Given the description of an element on the screen output the (x, y) to click on. 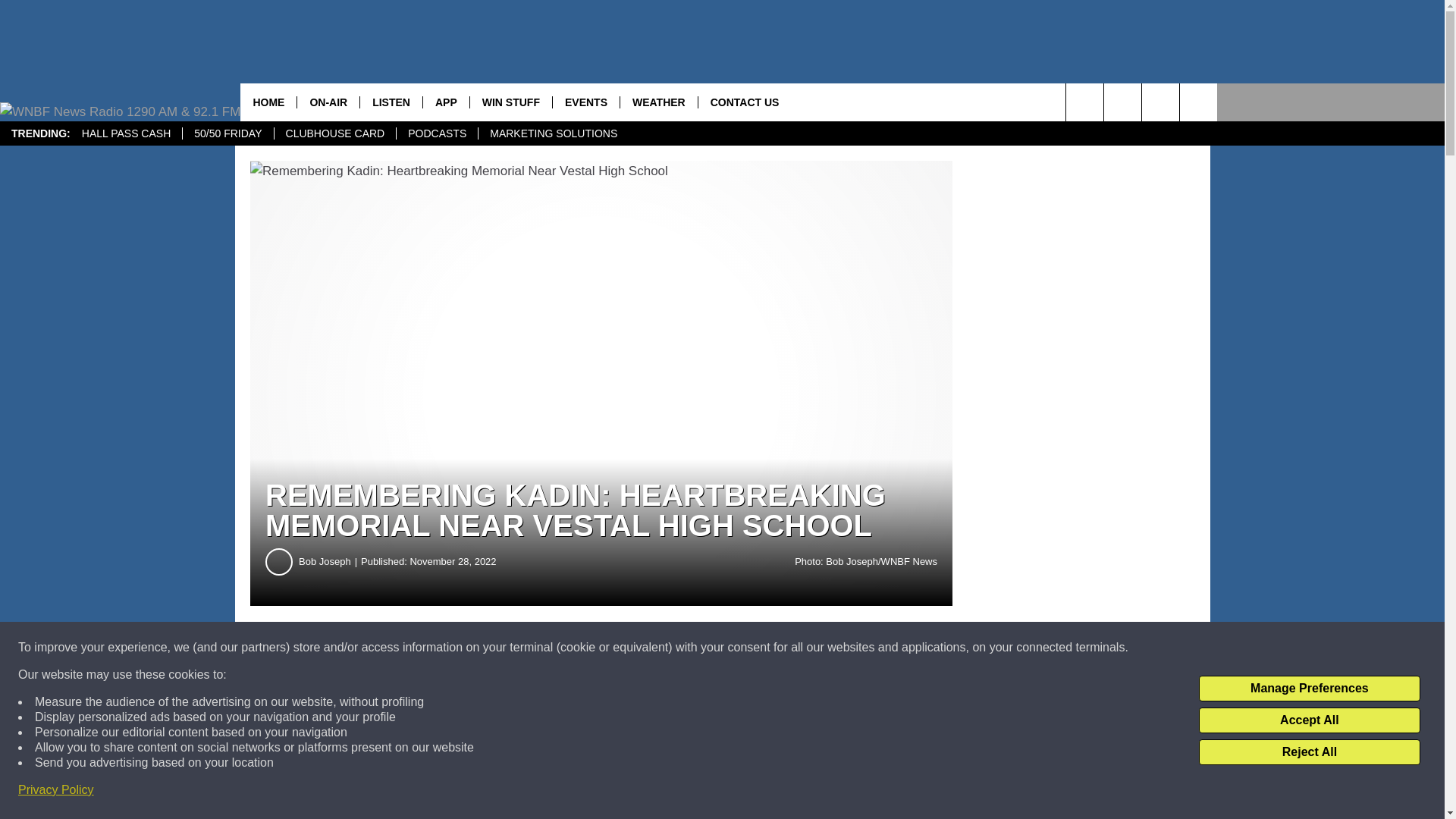
CLUBHOUSE CARD (334, 133)
Accept All (1309, 720)
Manage Preferences (1309, 688)
PODCASTS (436, 133)
EVENTS (585, 102)
LISTEN (390, 102)
WIN STUFF (509, 102)
HALL PASS CASH (126, 133)
APP (445, 102)
Share on Facebook (460, 647)
Privacy Policy (55, 789)
ON-AIR (328, 102)
Share on Twitter (741, 647)
WEATHER (658, 102)
Reject All (1309, 751)
